Given the description of an element on the screen output the (x, y) to click on. 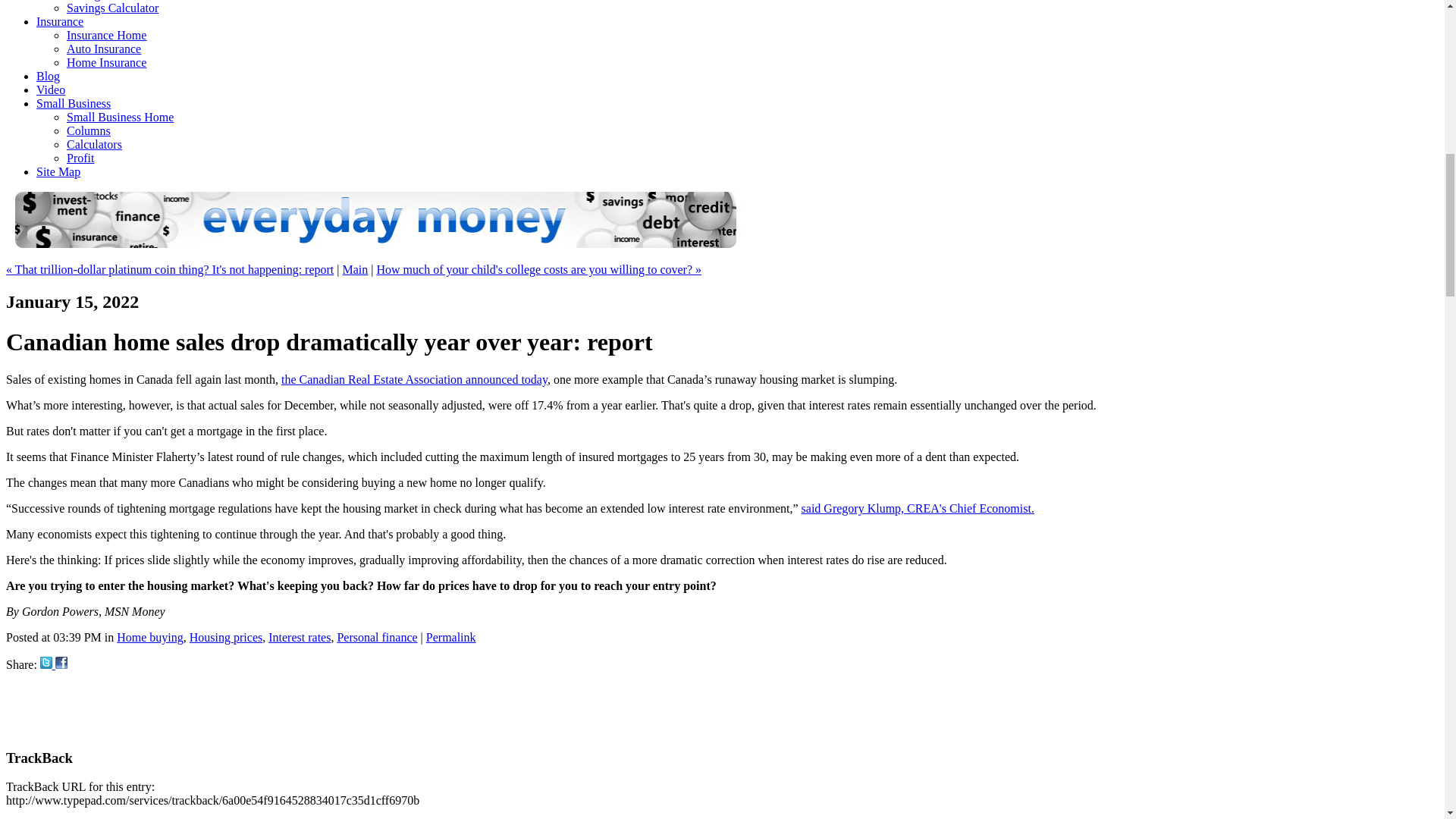
Canadian home sales drop dramatically year over year: report (60, 664)
